Given the description of an element on the screen output the (x, y) to click on. 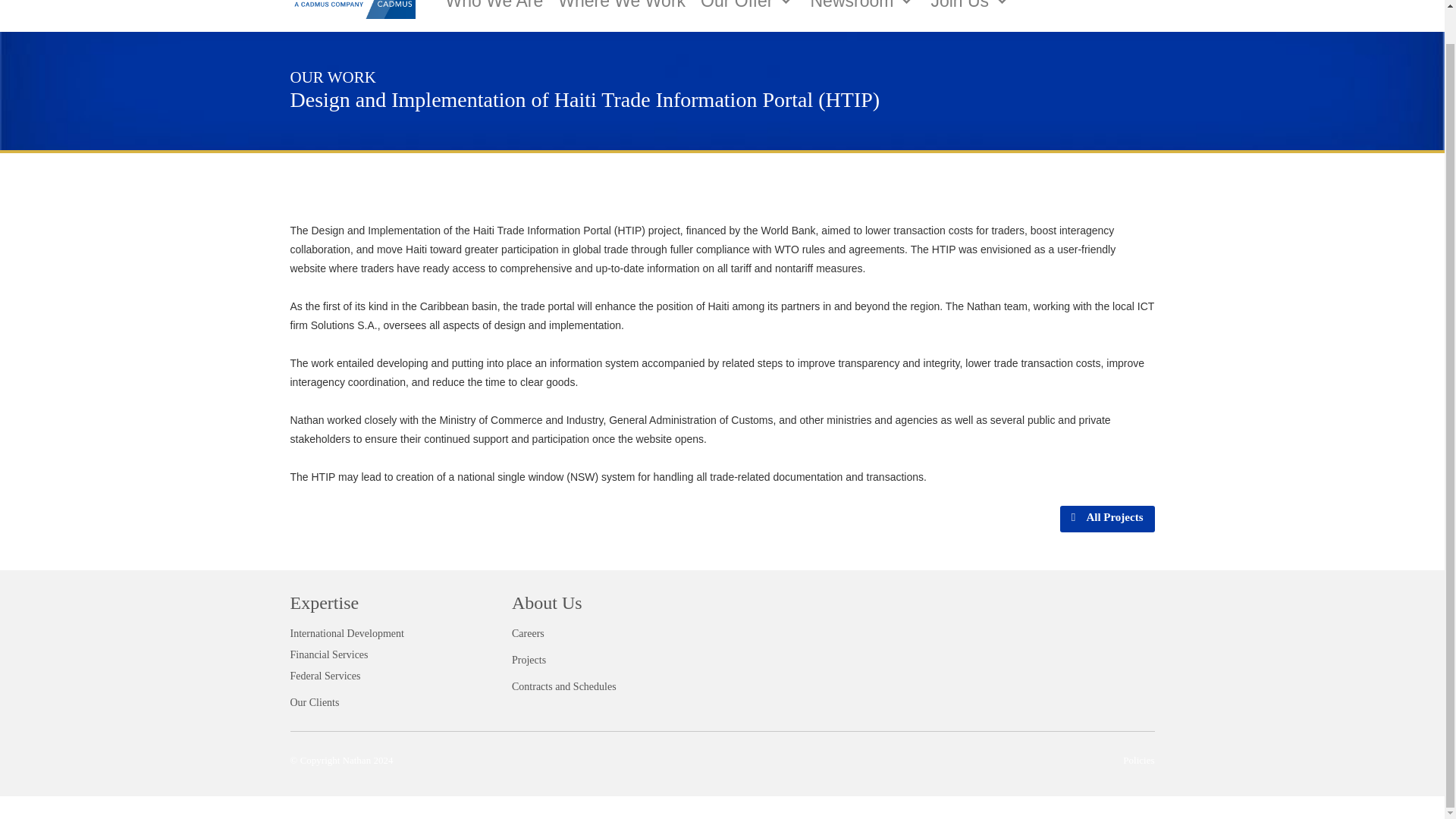
International Development (346, 633)
Financial Services (328, 654)
All Projects (1106, 519)
Nathan (354, 9)
Our Offer (747, 7)
Who We Are (494, 7)
Where We Work (621, 7)
Newsroom (862, 7)
Join Us (970, 7)
